Given the description of an element on the screen output the (x, y) to click on. 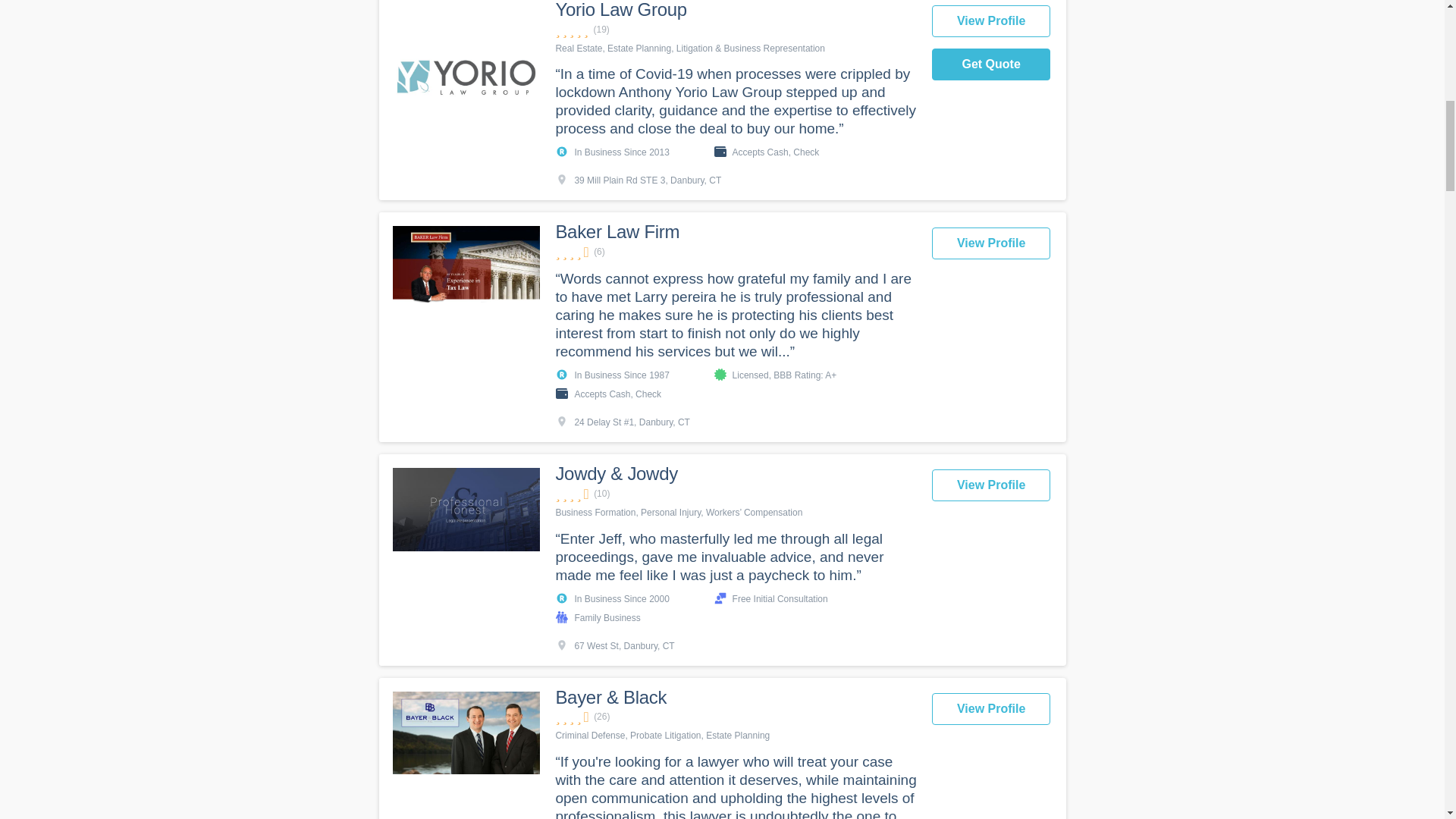
4.4 (734, 251)
4.6 (734, 716)
4.9 (734, 29)
4.5 (734, 493)
Get Quote (991, 64)
